Given the description of an element on the screen output the (x, y) to click on. 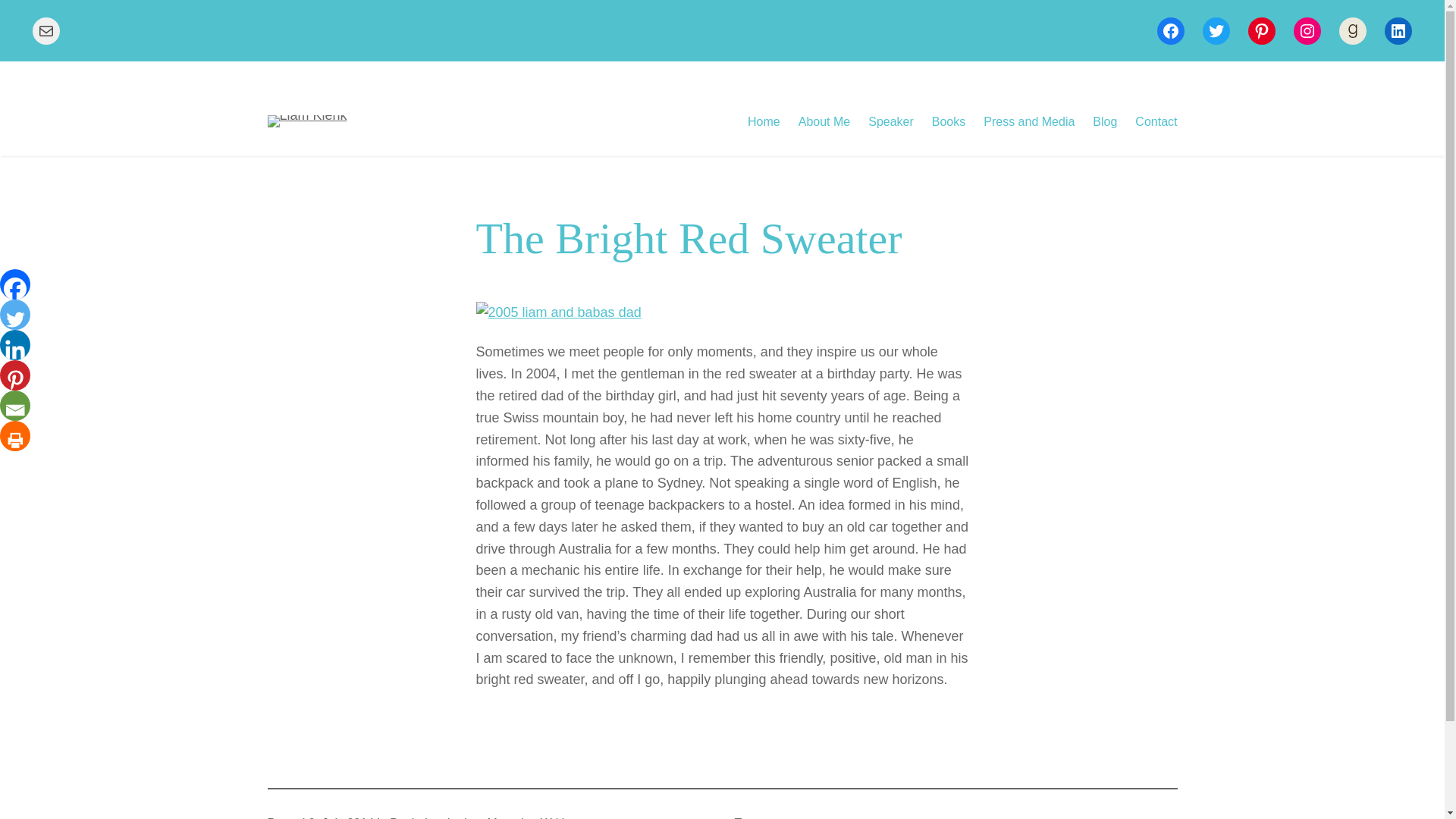
Goodreads (1353, 30)
Home (764, 121)
Contact (1155, 121)
Memoirs (509, 817)
Blog (1104, 121)
Linkedin (16, 345)
Books (948, 121)
Press and Media (1029, 121)
Twitter (1216, 30)
Book (403, 817)
